Given the description of an element on the screen output the (x, y) to click on. 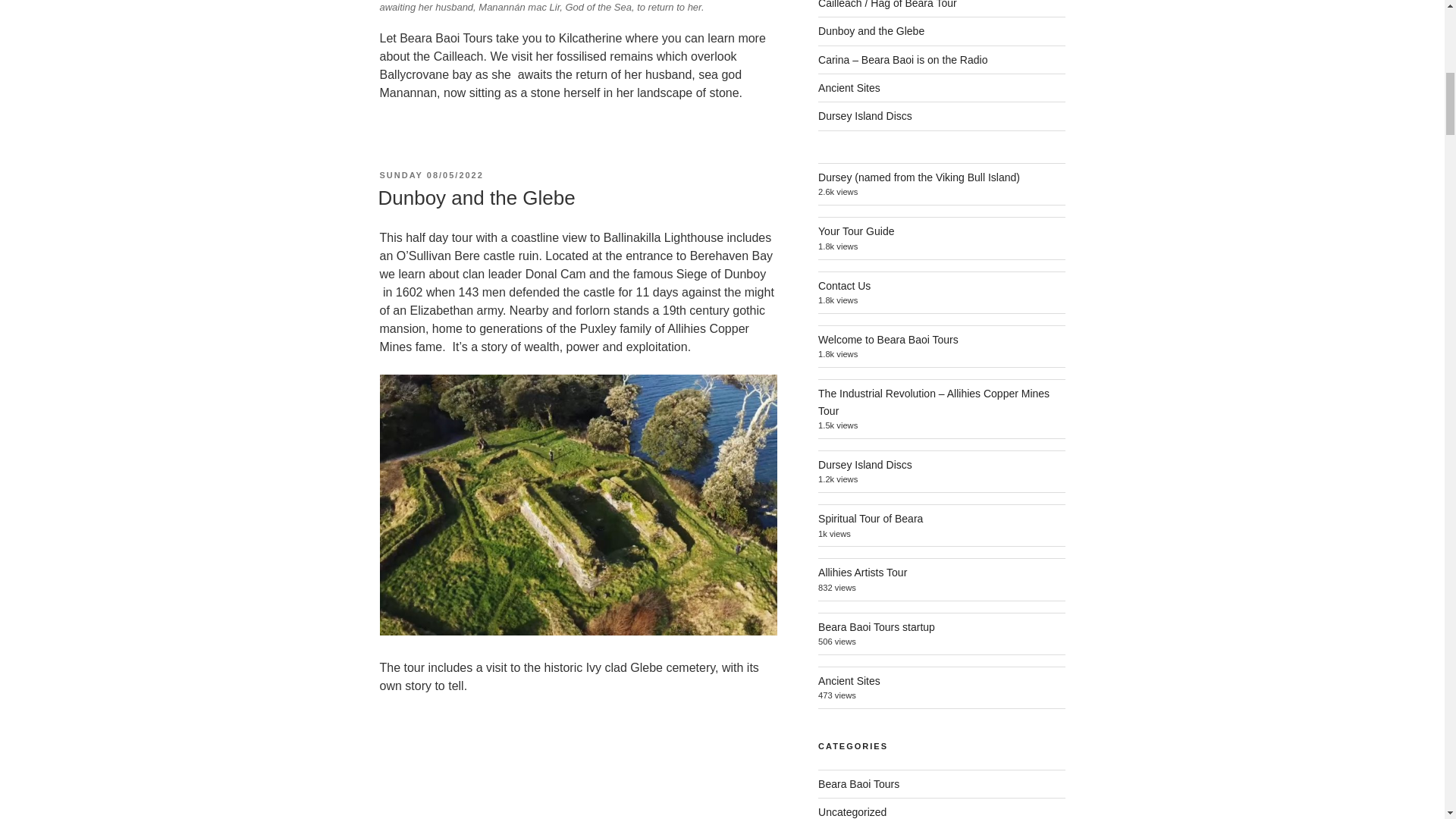
Contact Us (844, 285)
Welcome to Beara Baoi Tours (888, 339)
Dunboy and the Glebe (476, 197)
Dunboy Star Fort (577, 766)
Your Tour Guide (855, 231)
Ancient Sites (849, 87)
Dursey Island Discs (865, 115)
Dunboy and the Glebe (871, 30)
